Given the description of an element on the screen output the (x, y) to click on. 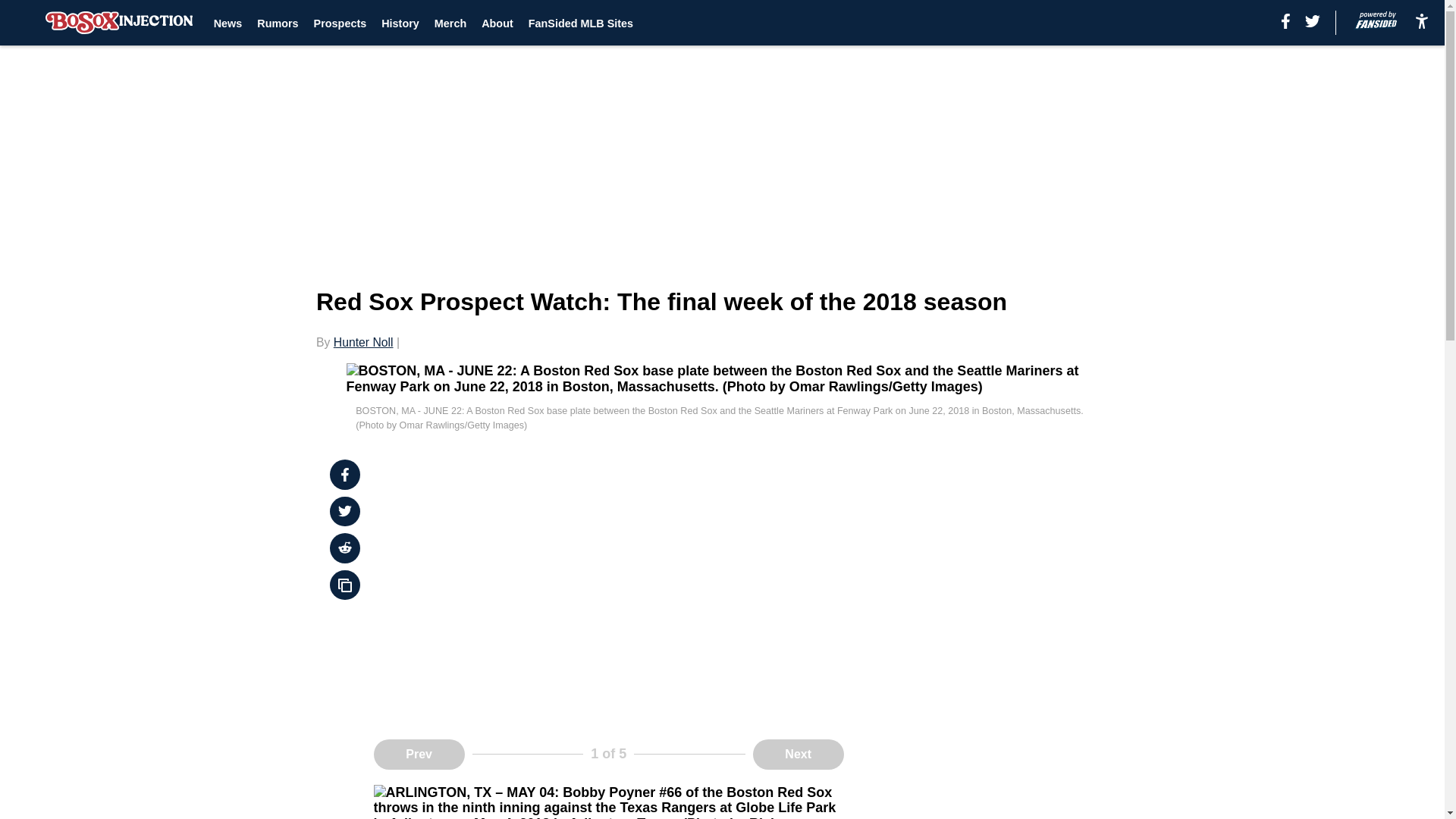
History (400, 23)
Rumors (277, 23)
Prev (419, 754)
Hunter Noll (363, 341)
Merch (449, 23)
Prospects (340, 23)
About (497, 23)
Next (798, 754)
FanSided MLB Sites (580, 23)
News (228, 23)
